Given the description of an element on the screen output the (x, y) to click on. 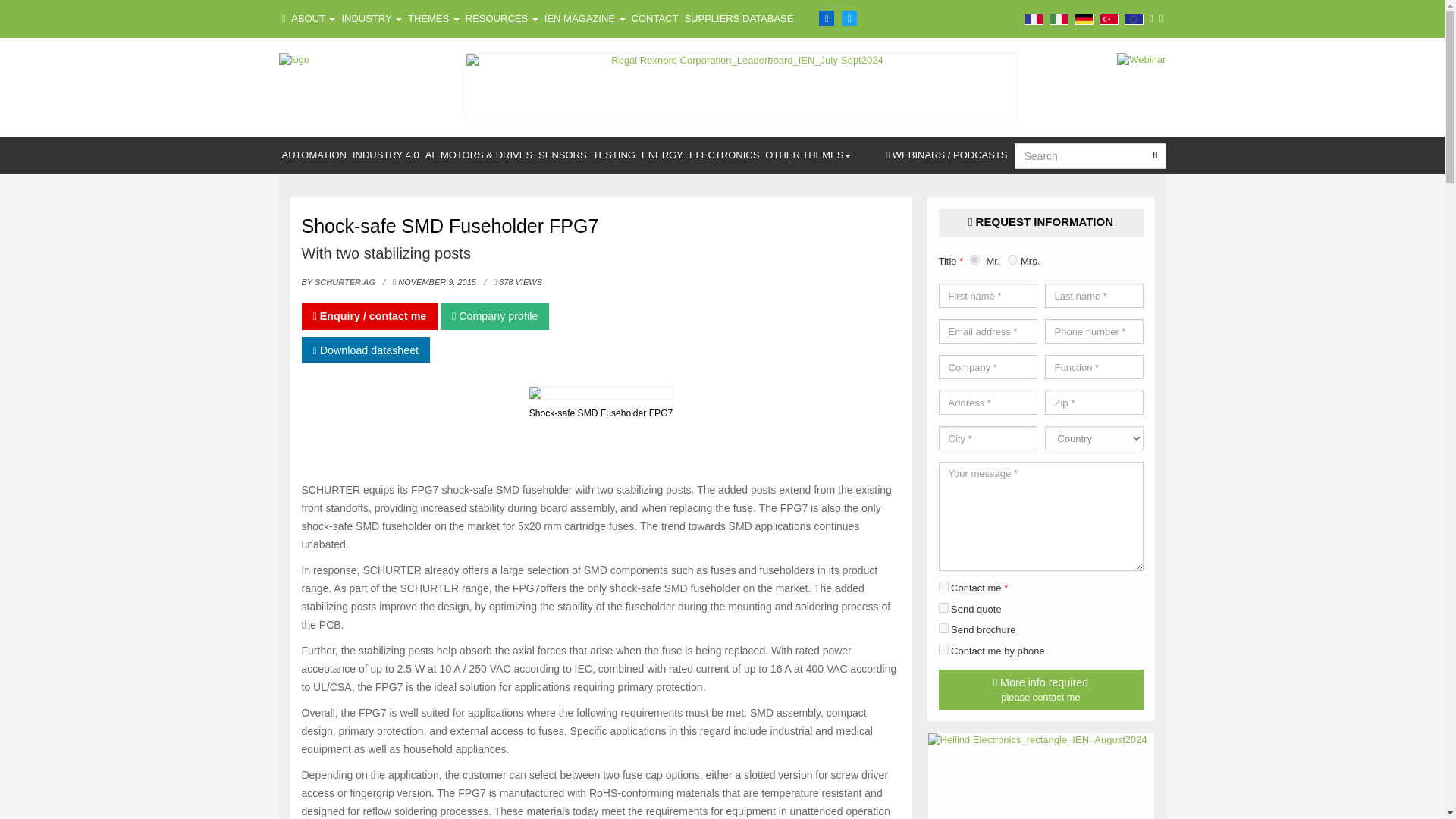
1 (944, 586)
enquireForm.options.002 (944, 607)
Mr (974, 259)
RESOURCES (502, 18)
IEN MAGAZINE (584, 18)
Themes (433, 18)
ABOUT (312, 18)
THEMES (433, 18)
Industry (370, 18)
Mrs (1012, 259)
